Given the description of an element on the screen output the (x, y) to click on. 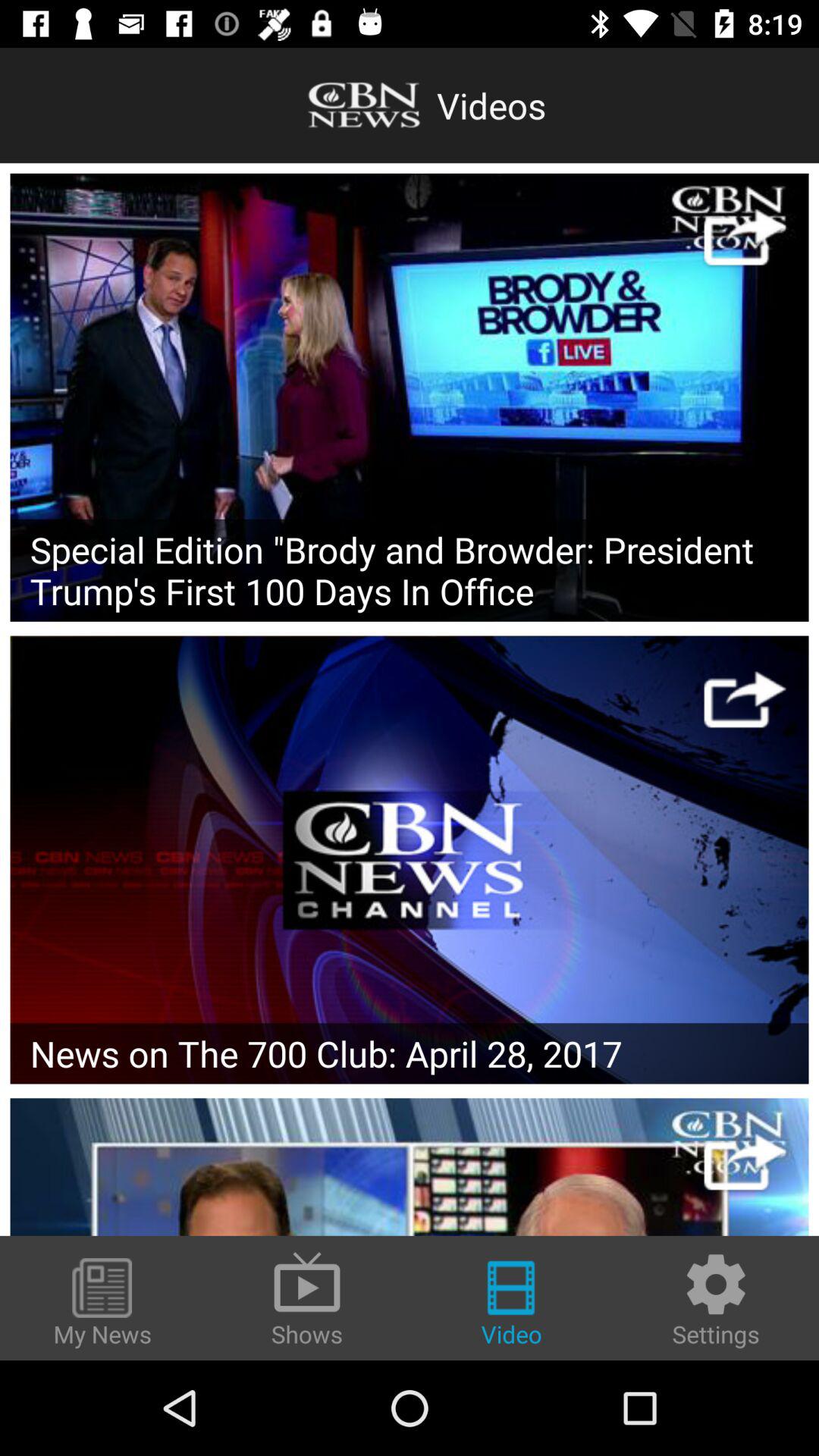
choose the icon to the left of video item (306, 1298)
